Given the description of an element on the screen output the (x, y) to click on. 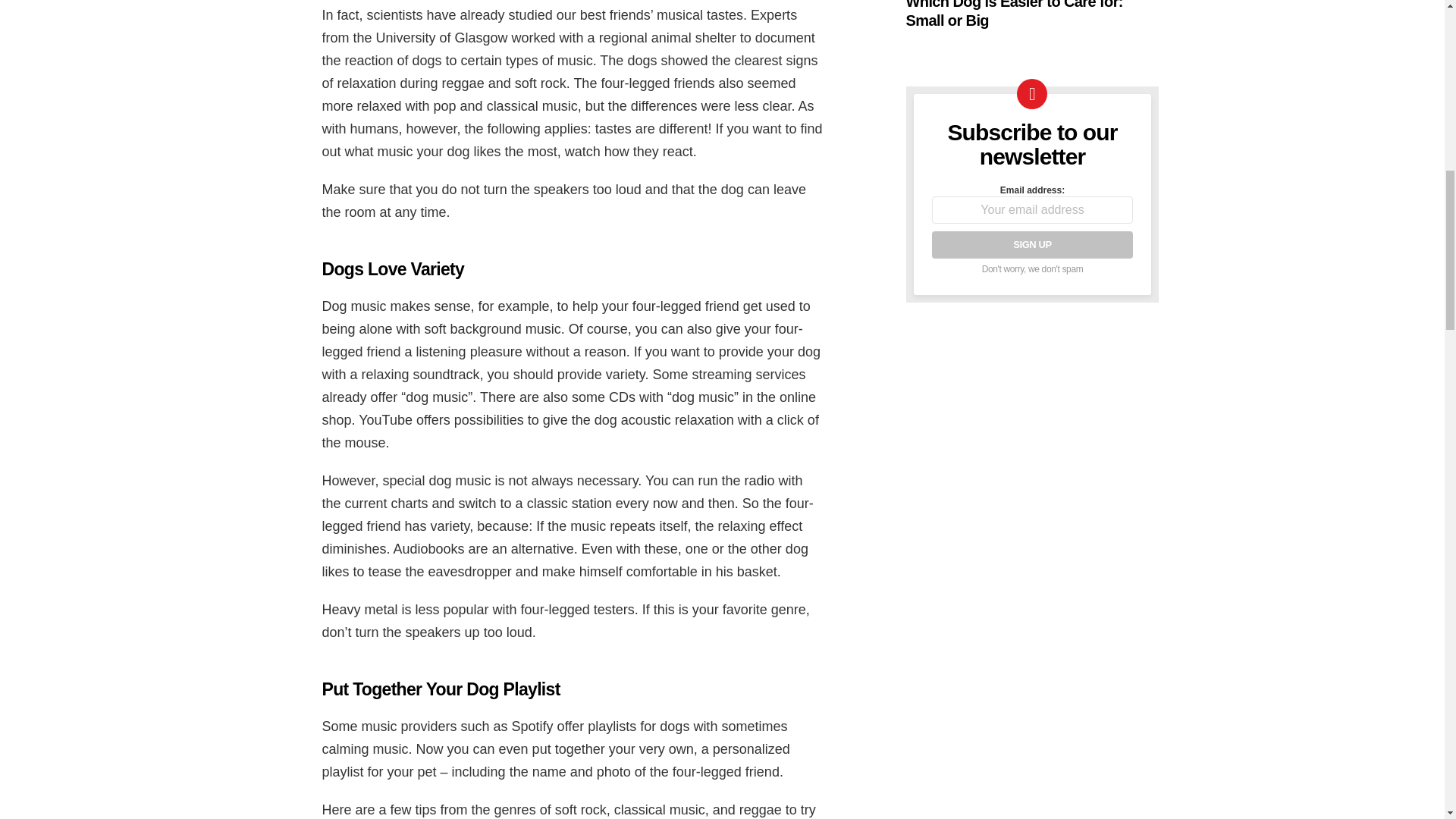
Sign up (1031, 244)
